Given the description of an element on the screen output the (x, y) to click on. 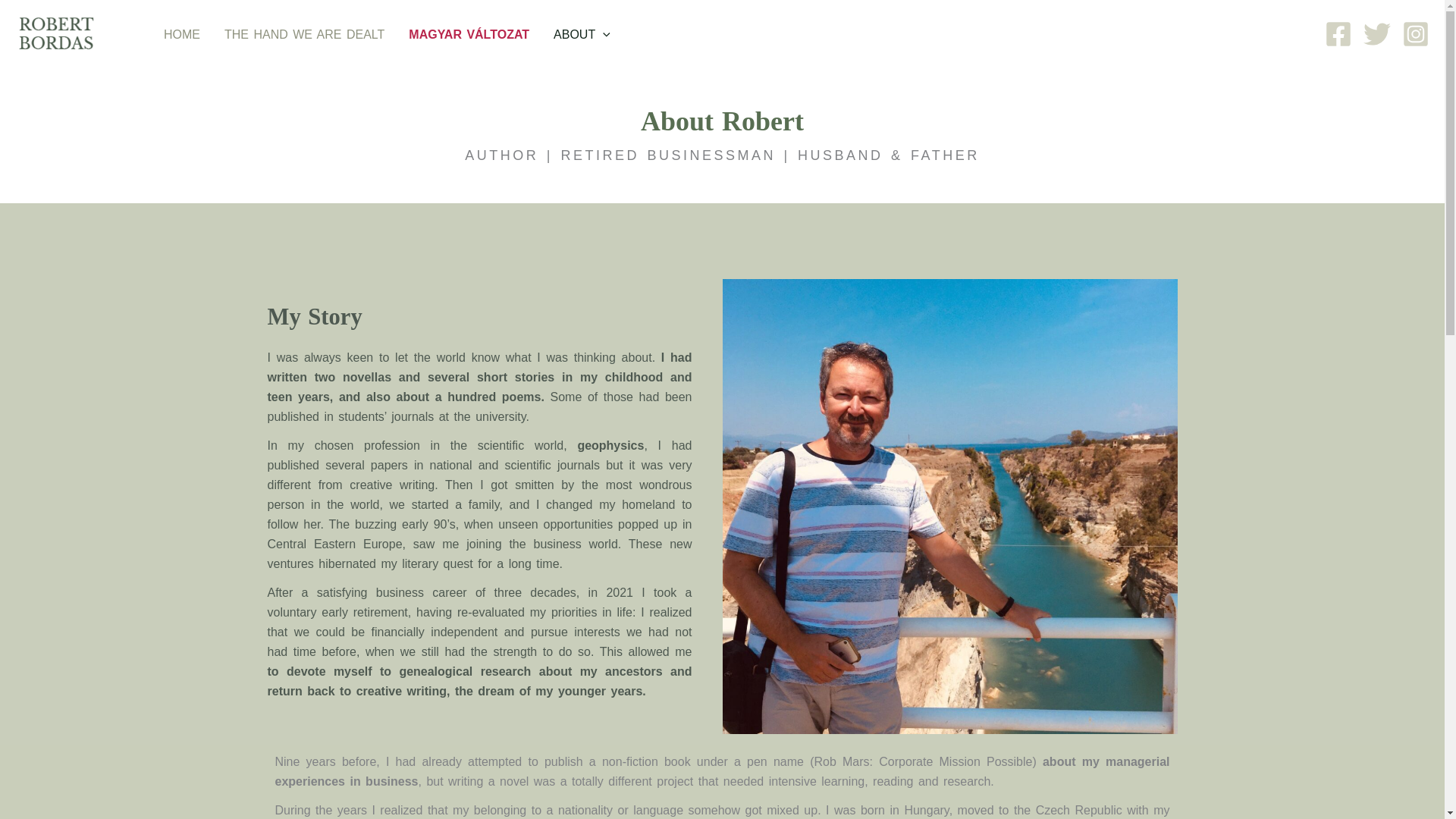
ABOUT (582, 34)
HOME (181, 34)
THE HAND WE ARE DEALT (304, 34)
